Given the description of an element on the screen output the (x, y) to click on. 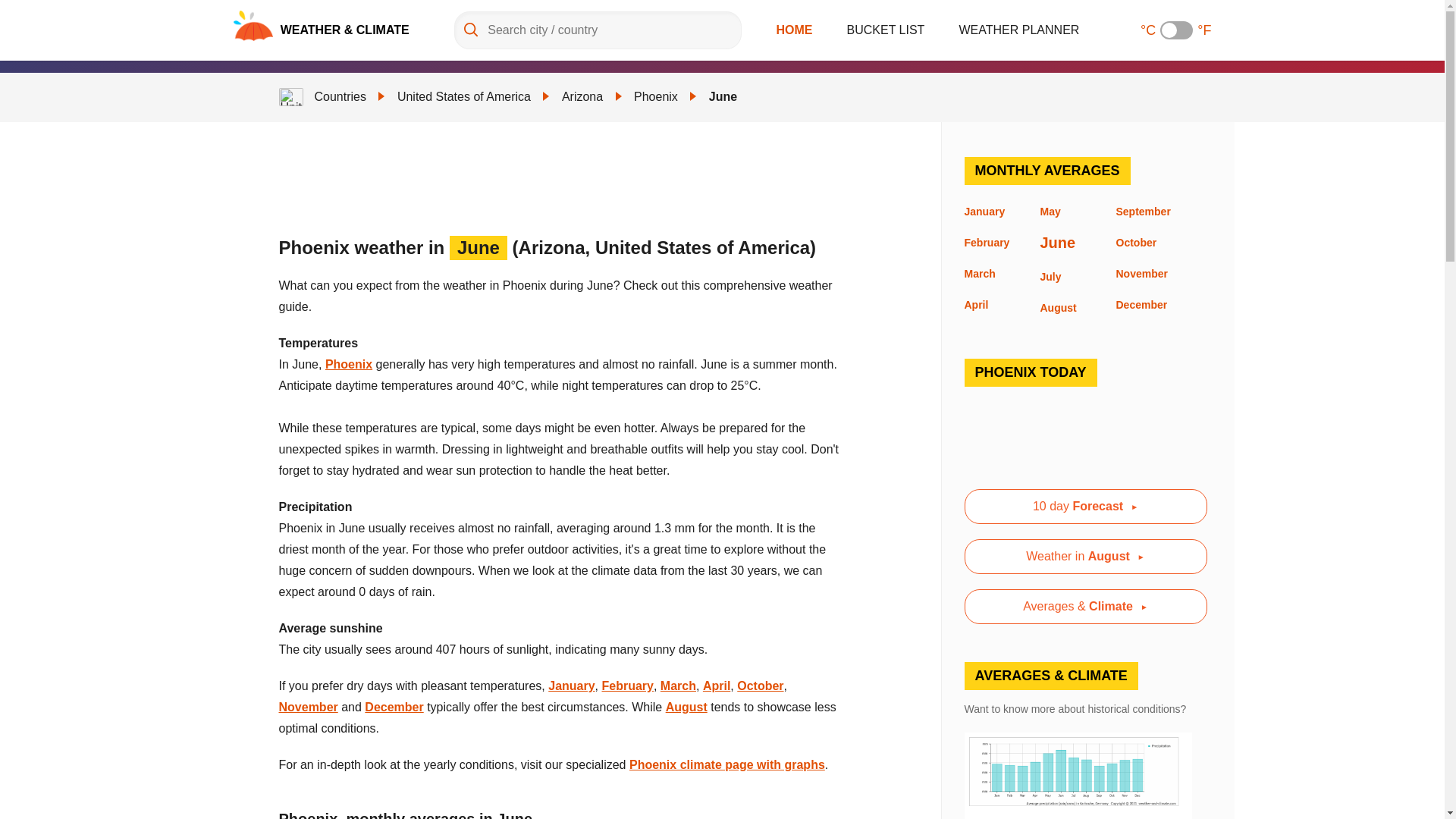
February (627, 685)
Weather and climate homepage (252, 25)
Arizona (582, 96)
Countries (339, 96)
August (686, 707)
Phoenix climate page with graphs (726, 764)
HOME (794, 30)
November (308, 707)
June (722, 96)
October (759, 685)
March (678, 685)
Phoenix (655, 96)
Phoenix (348, 364)
December (394, 707)
April (716, 685)
